Given the description of an element on the screen output the (x, y) to click on. 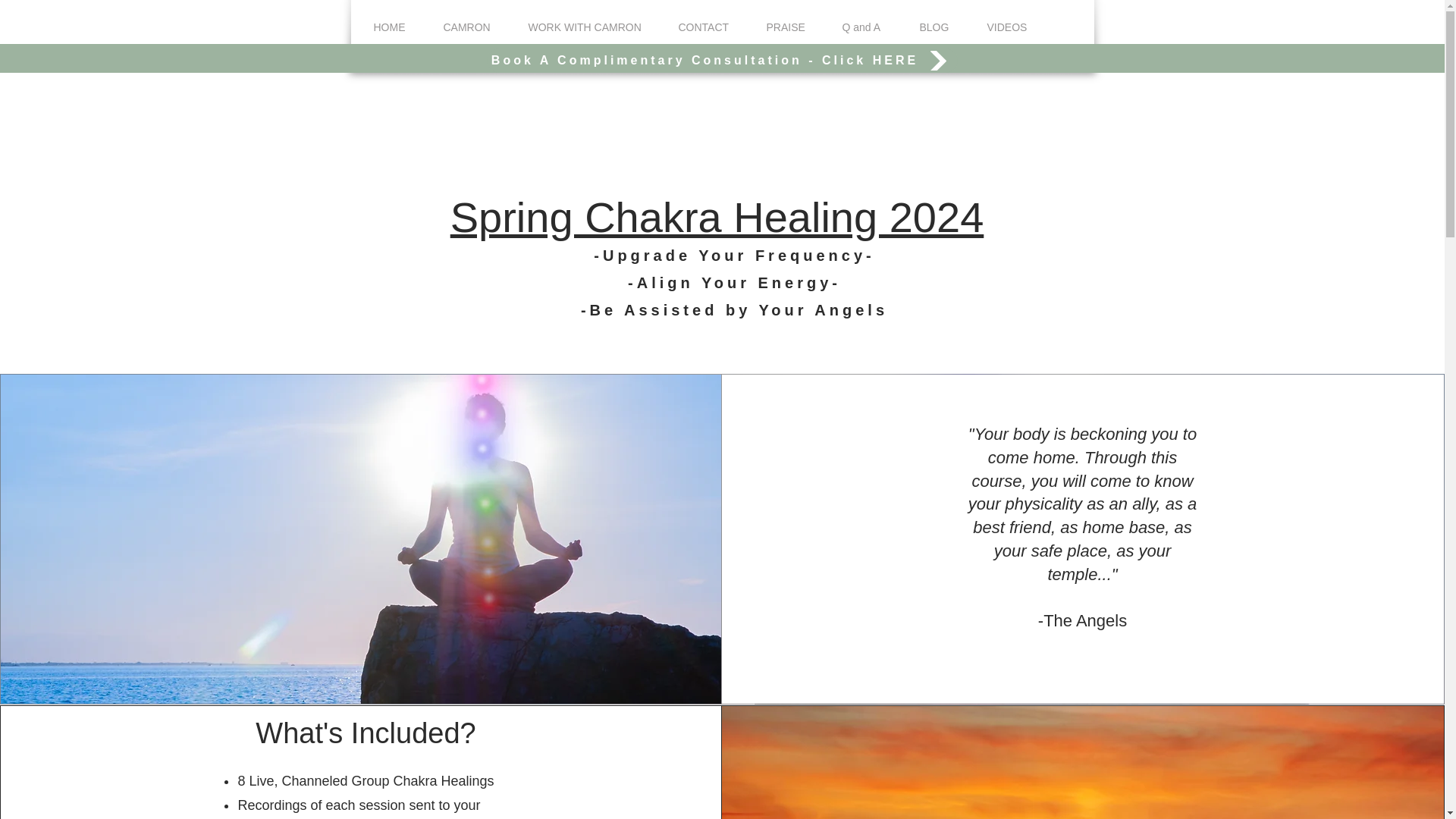
CAMRON (467, 27)
BLOG (934, 27)
VIDEOS (1006, 27)
HOME (390, 27)
Book A Complimentary Consultation - Click HERE (722, 60)
WORK WITH CAMRON (584, 27)
CONTACT (703, 27)
PRAISE (786, 27)
Q and A (862, 27)
